Given the description of an element on the screen output the (x, y) to click on. 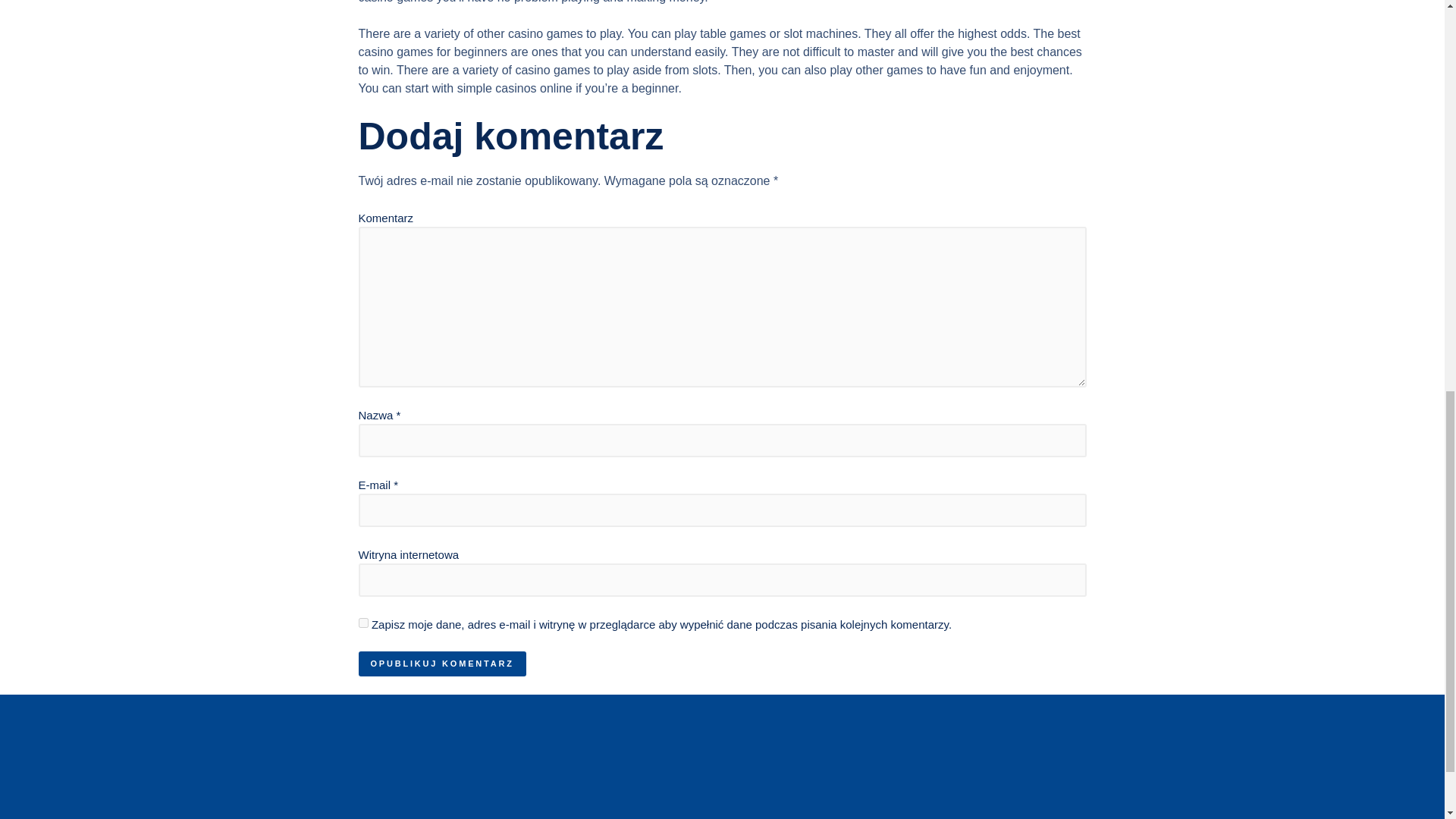
Opublikuj komentarz (441, 663)
yes (363, 623)
Opublikuj komentarz (441, 663)
